Given the description of an element on the screen output the (x, y) to click on. 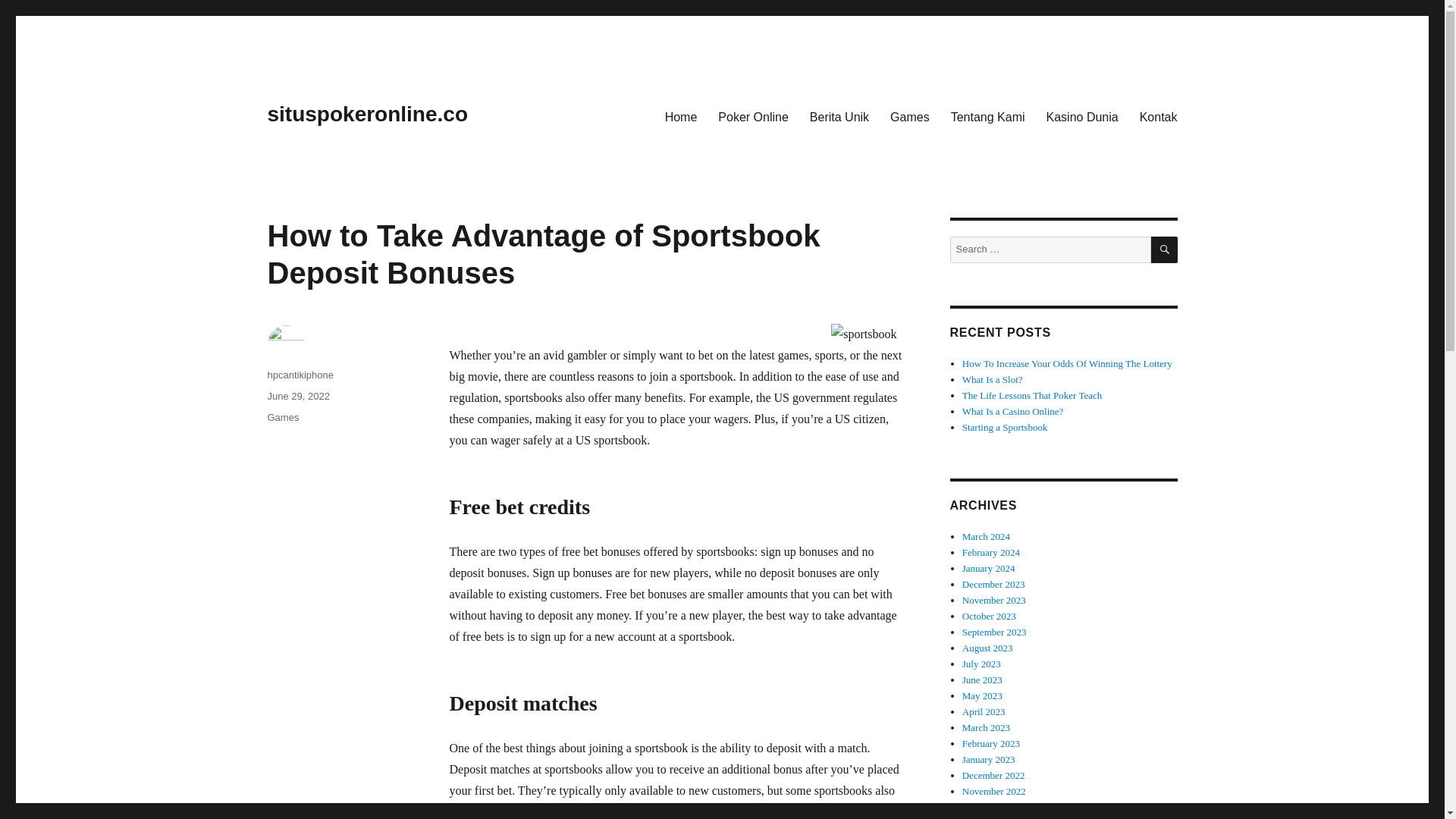
July 2023 (981, 663)
hpcantikiphone (299, 374)
October 2023 (989, 615)
SEARCH (1164, 249)
How To Increase Your Odds Of Winning The Lottery (1067, 363)
November 2022 (994, 790)
Tentang Kami (987, 116)
What Is a Slot? (992, 378)
September 2022 (994, 818)
Kasino Dunia (1082, 116)
December 2022 (993, 775)
May 2023 (982, 695)
April 2023 (984, 711)
June 2023 (982, 679)
What Is a Casino Online? (1013, 410)
